Given the description of an element on the screen output the (x, y) to click on. 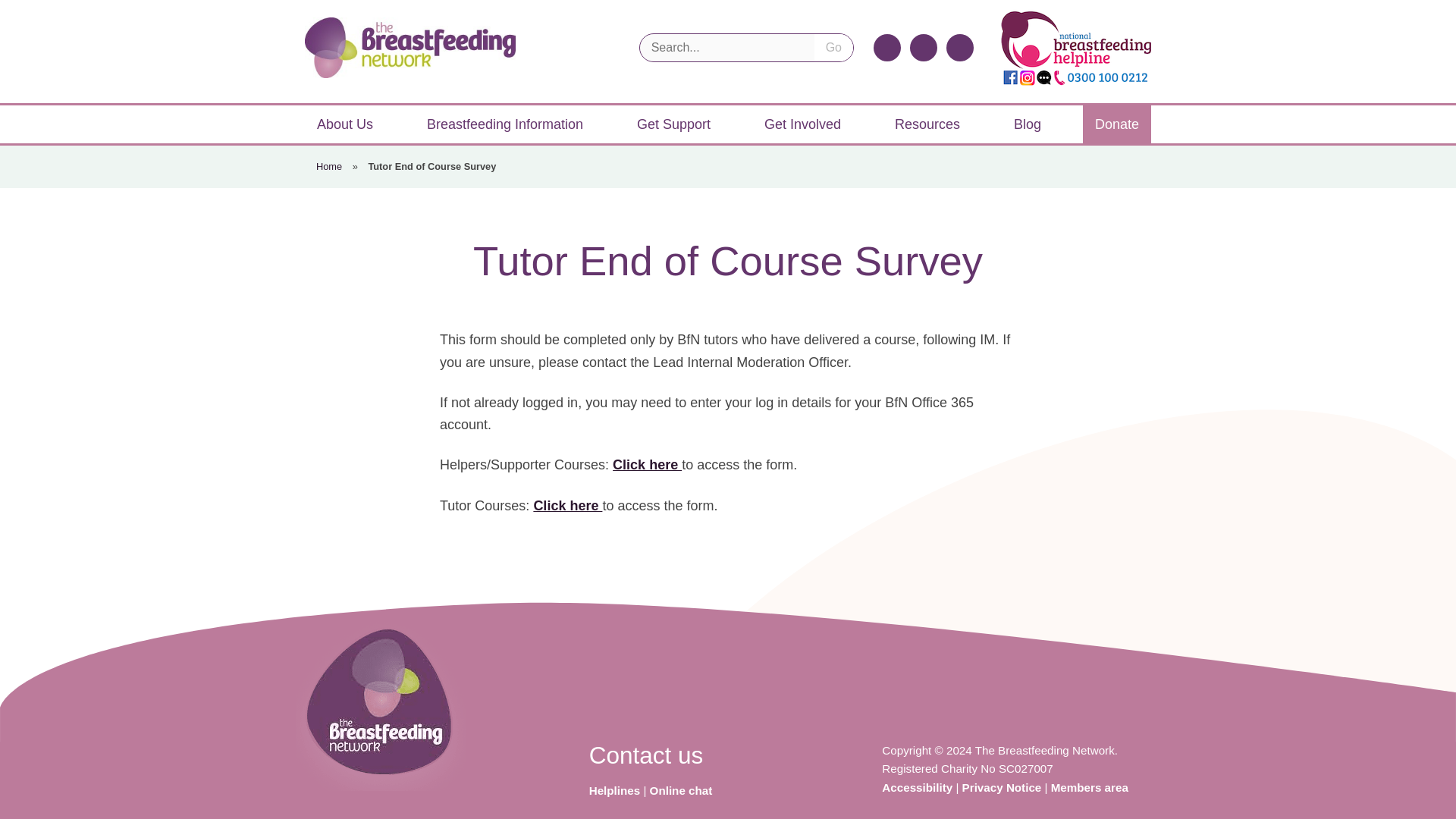
Go (833, 47)
Go (833, 47)
Breastfeeding Information (504, 124)
About Us (344, 124)
Go (833, 47)
The Breastfeeding Network (409, 47)
